Given the description of an element on the screen output the (x, y) to click on. 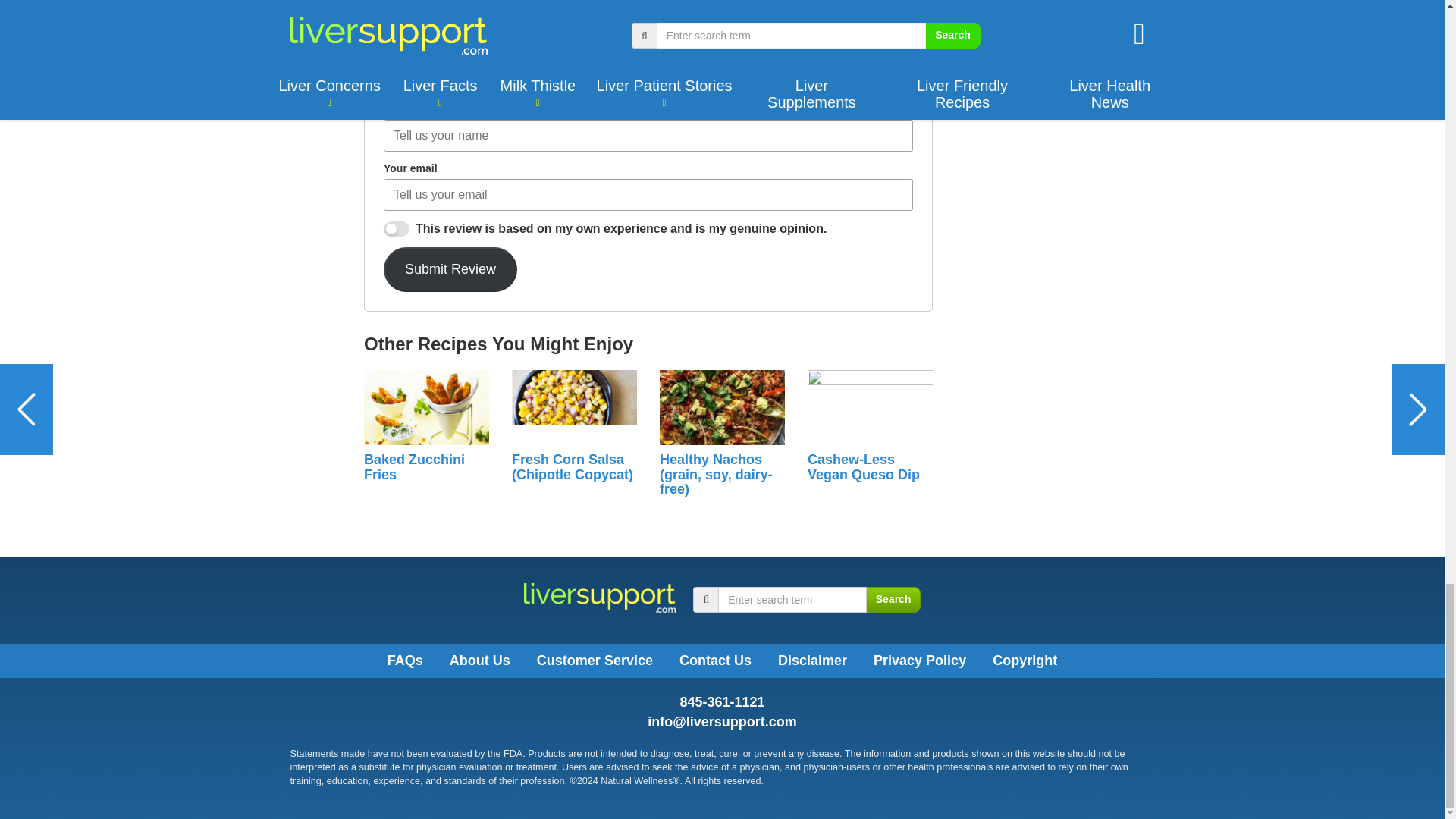
1 (396, 228)
LiverSupport (599, 597)
